Given the description of an element on the screen output the (x, y) to click on. 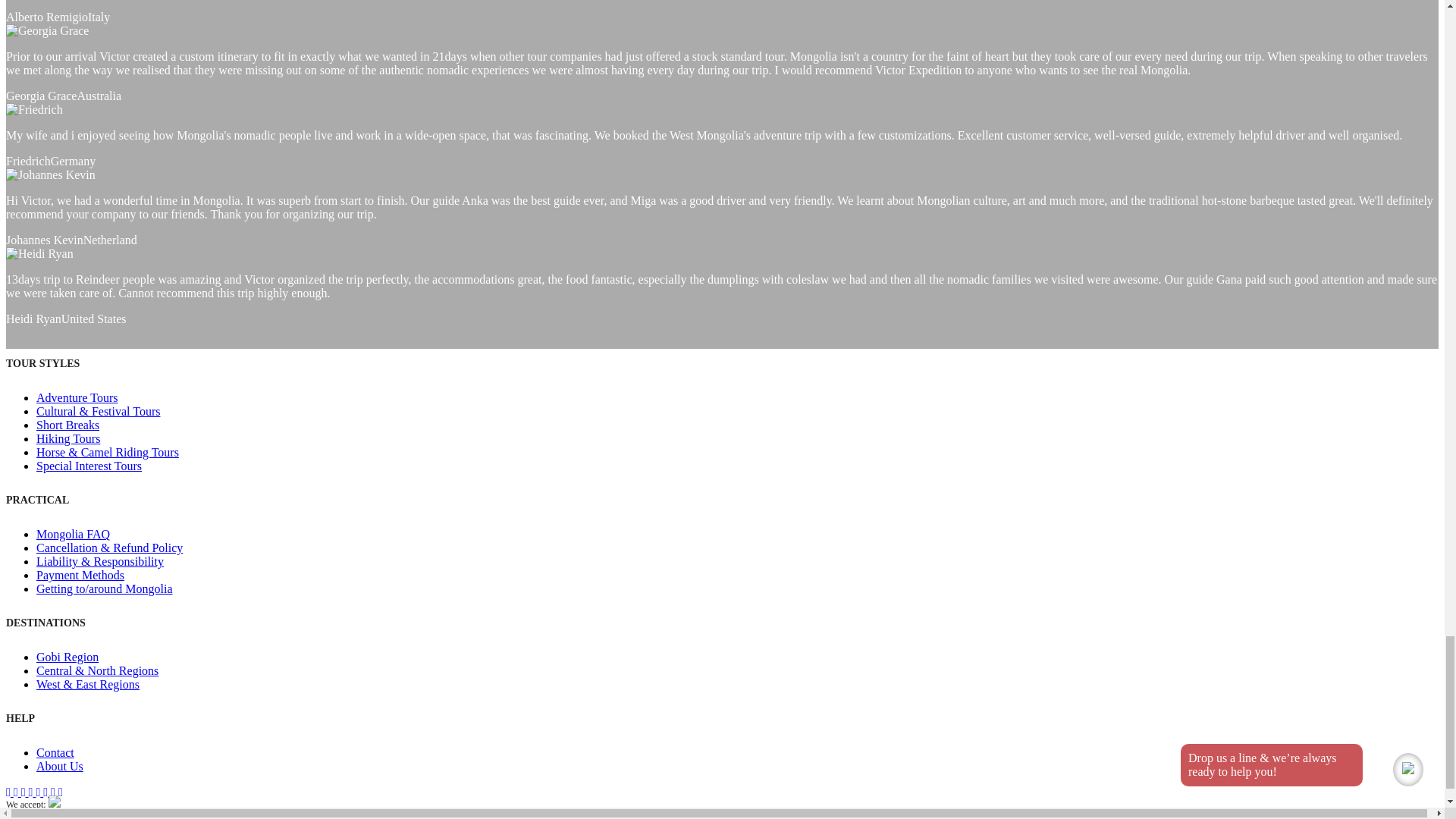
Facebook (13, 791)
Instagram (56, 791)
Twitter (42, 791)
Youtube (28, 791)
